Given the description of an element on the screen output the (x, y) to click on. 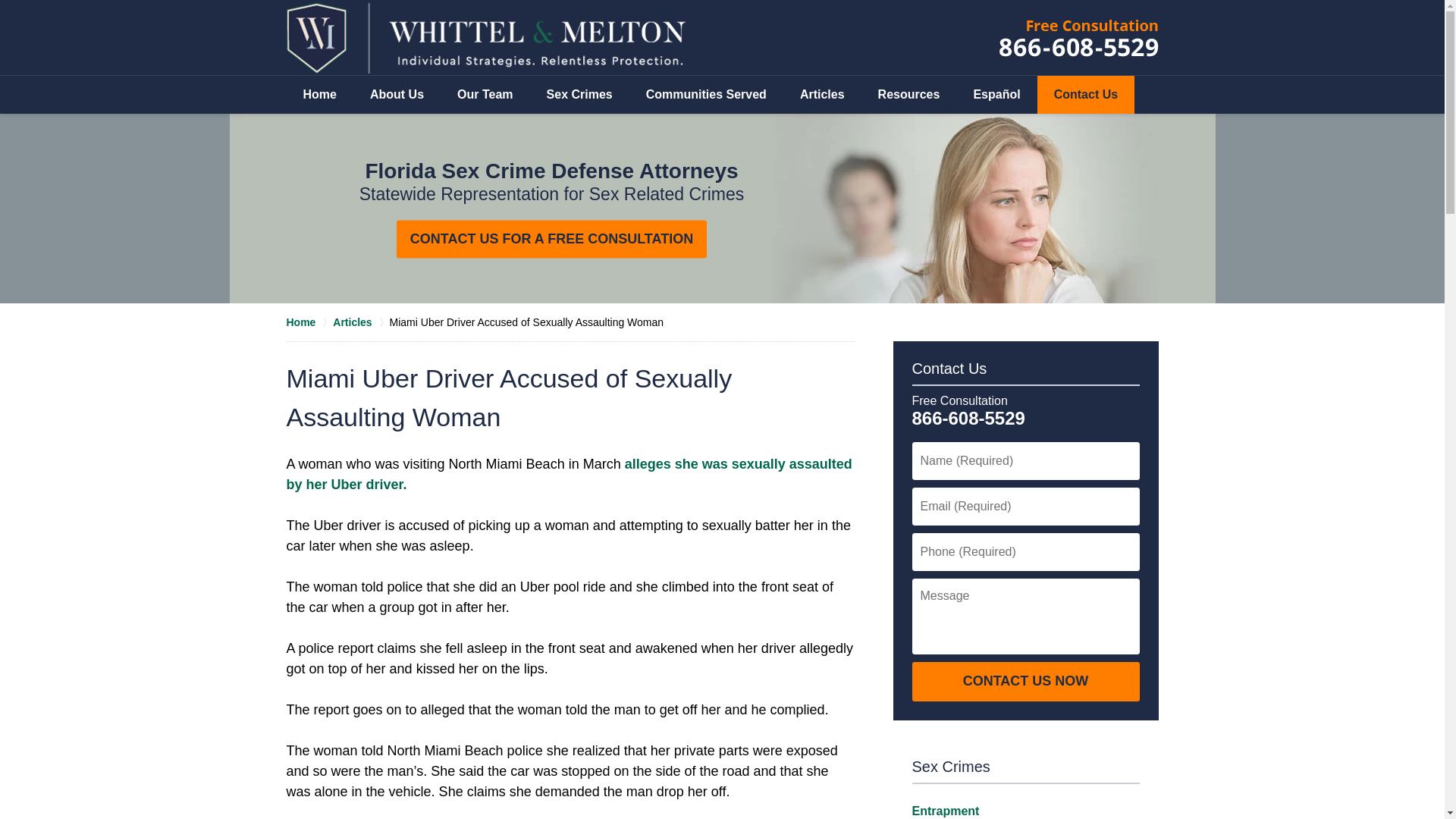
Contact Us (949, 368)
Entrapment (944, 810)
Home (309, 321)
Contact Us (1085, 94)
alleges she was sexually assaulted by her Uber driver. (568, 474)
Communities Served (705, 94)
Back to Home (485, 38)
Sex Crimes (950, 766)
Our Team (485, 94)
Resources (908, 94)
